Given the description of an element on the screen output the (x, y) to click on. 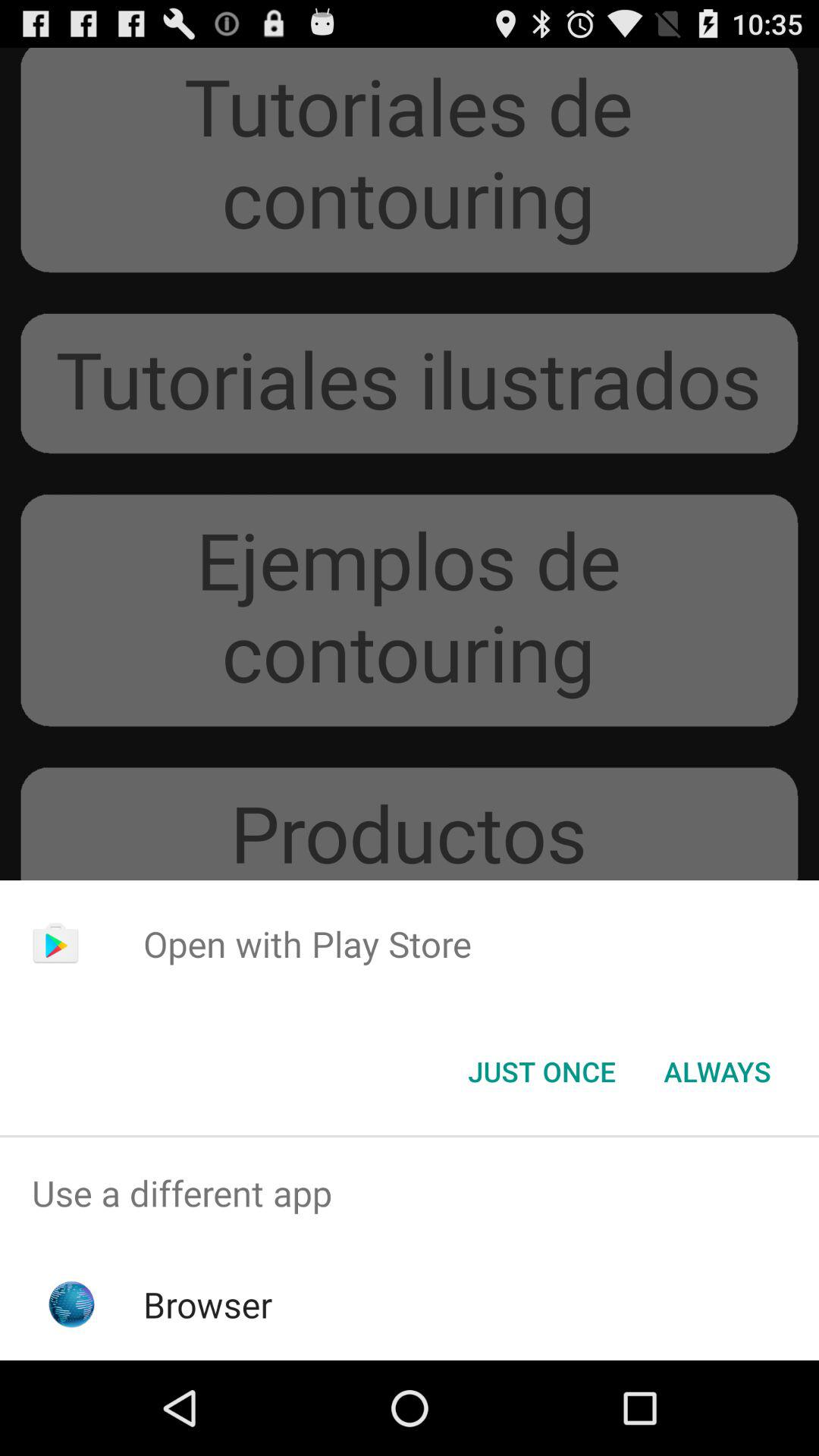
tap the icon at the bottom right corner (717, 1071)
